Given the description of an element on the screen output the (x, y) to click on. 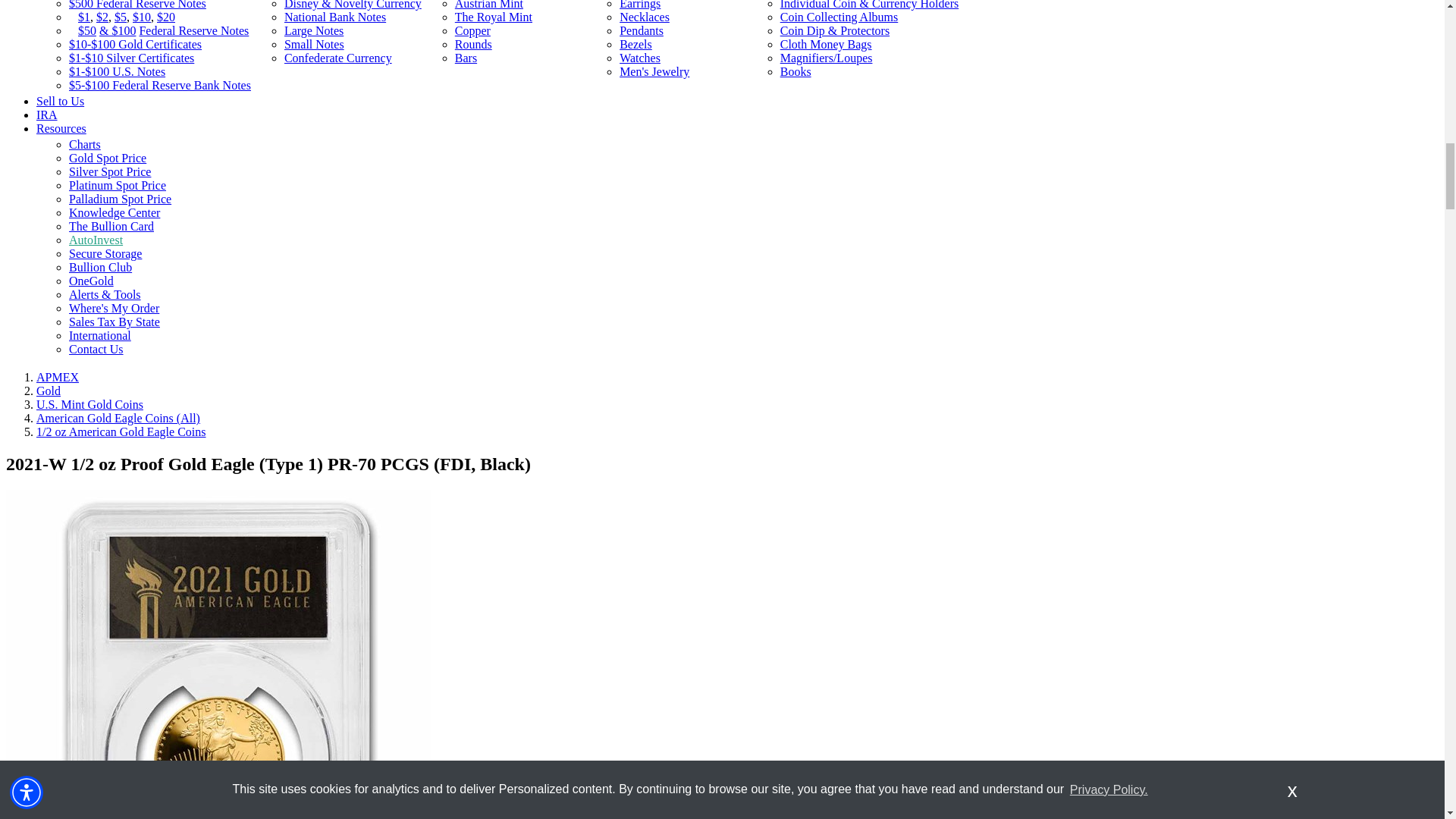
Home (57, 377)
